Given the description of an element on the screen output the (x, y) to click on. 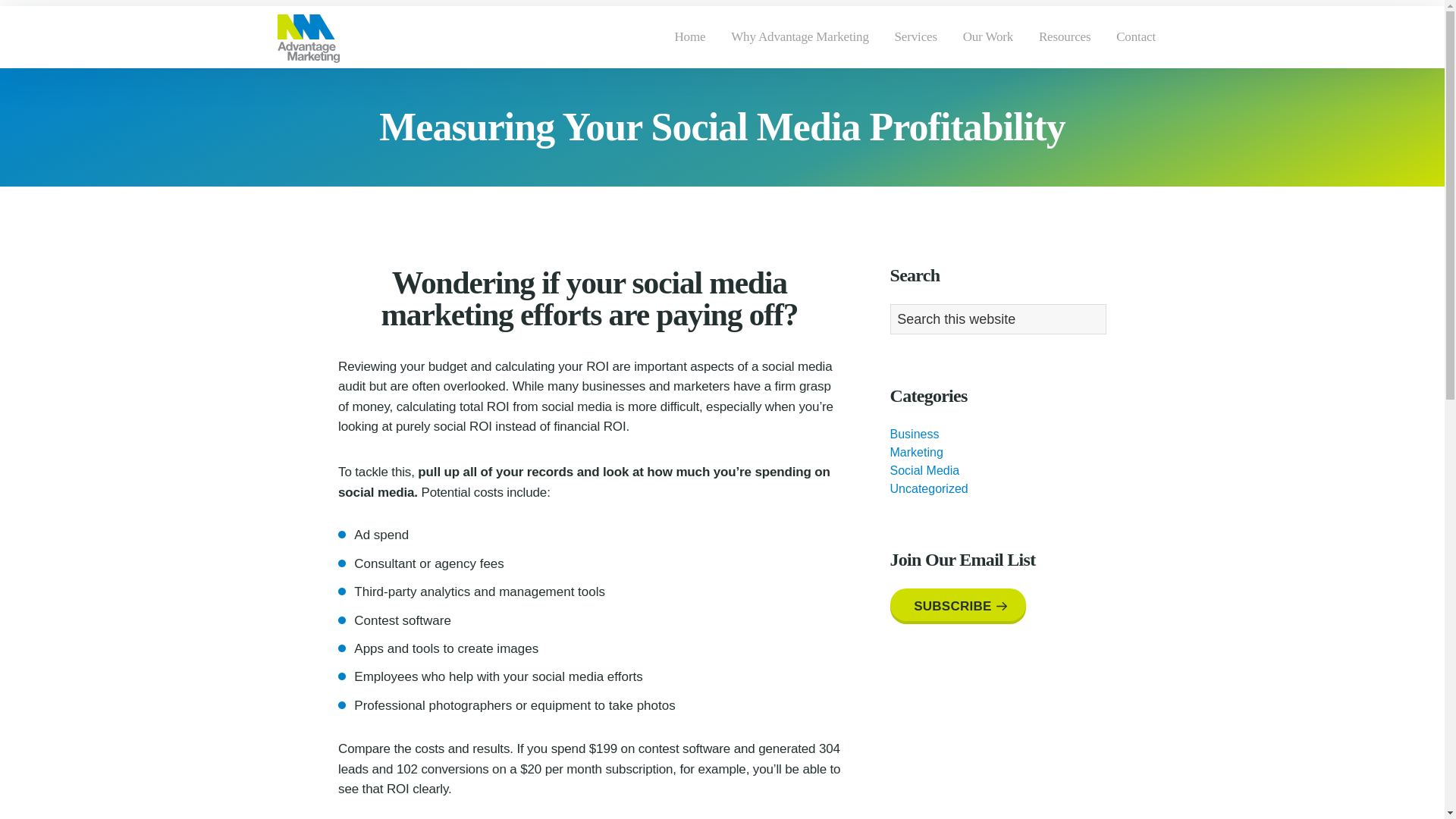
Services (916, 36)
Our Work (988, 36)
Why Advantage Marketing (800, 36)
Home (689, 36)
Resources (1064, 36)
Advantage Marketing (315, 83)
